Given the description of an element on the screen output the (x, y) to click on. 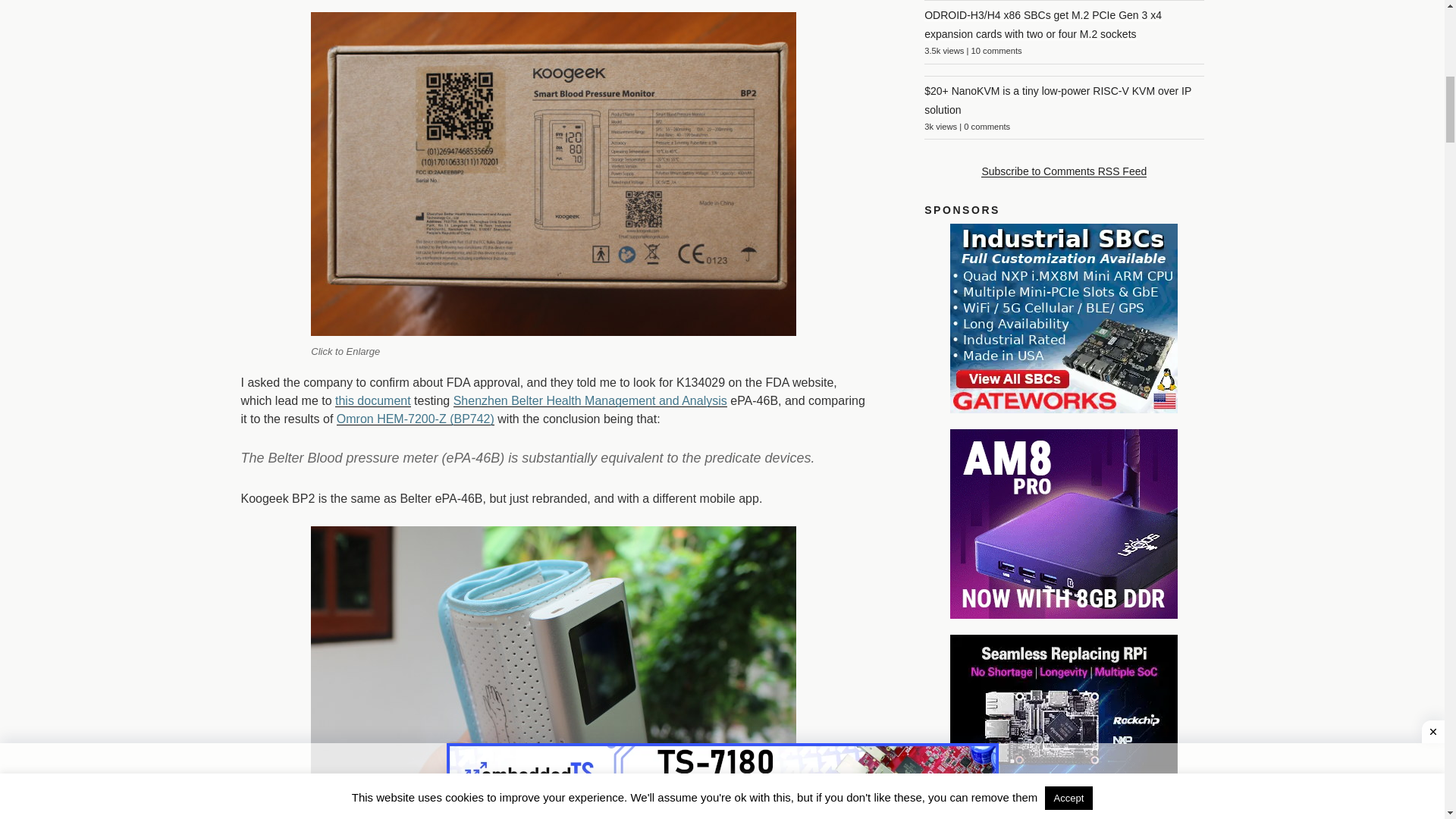
this document (372, 400)
Shenzhen Belter Health Management and Analysis (589, 400)
